Given the description of an element on the screen output the (x, y) to click on. 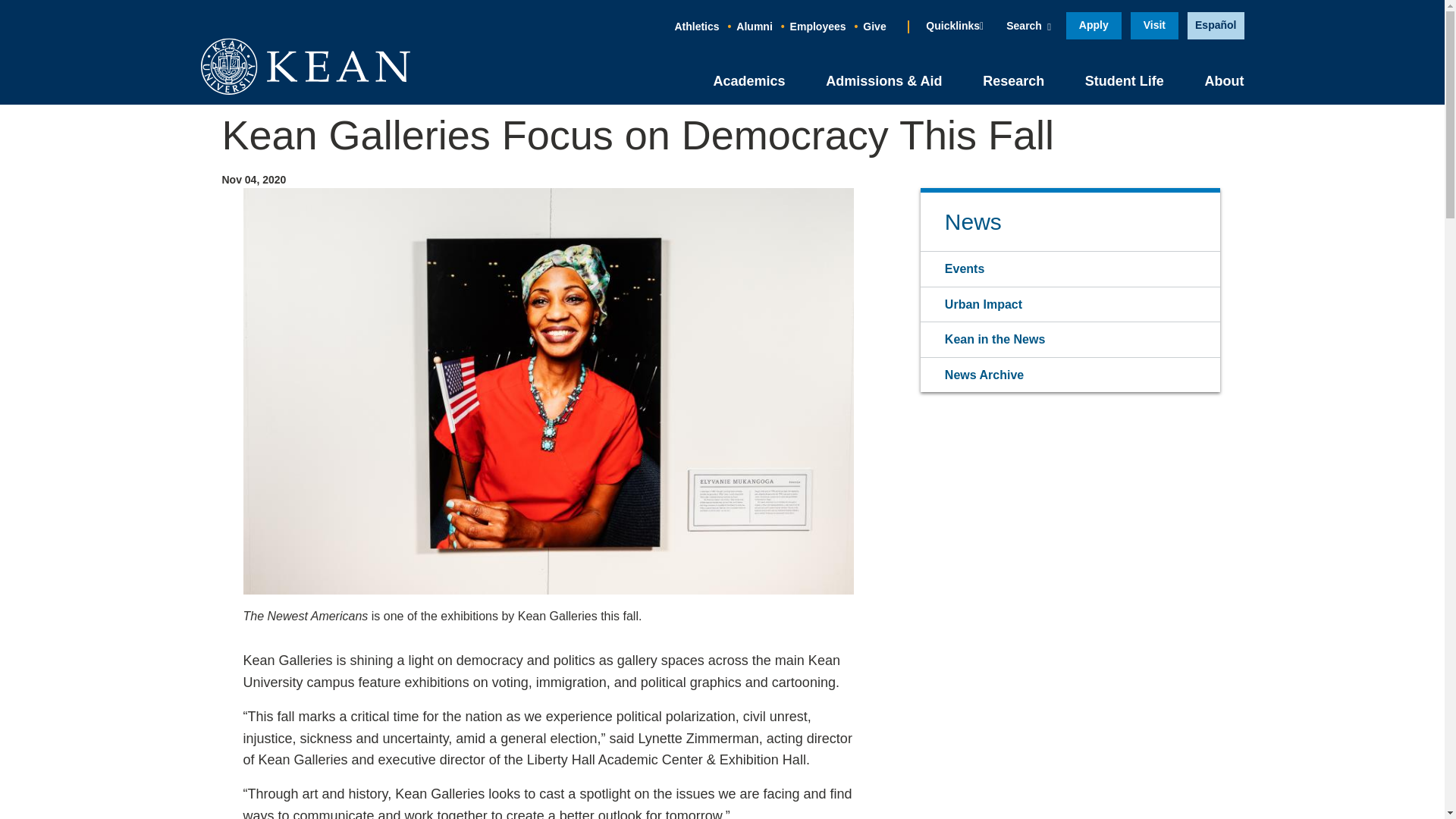
Research (1012, 80)
Visit (1154, 25)
Athletics (696, 26)
Apply (1093, 25)
Search (1027, 25)
Employees (817, 26)
Academics (748, 80)
Home (304, 66)
Quicklinks (954, 25)
About (1223, 80)
